Given the description of an element on the screen output the (x, y) to click on. 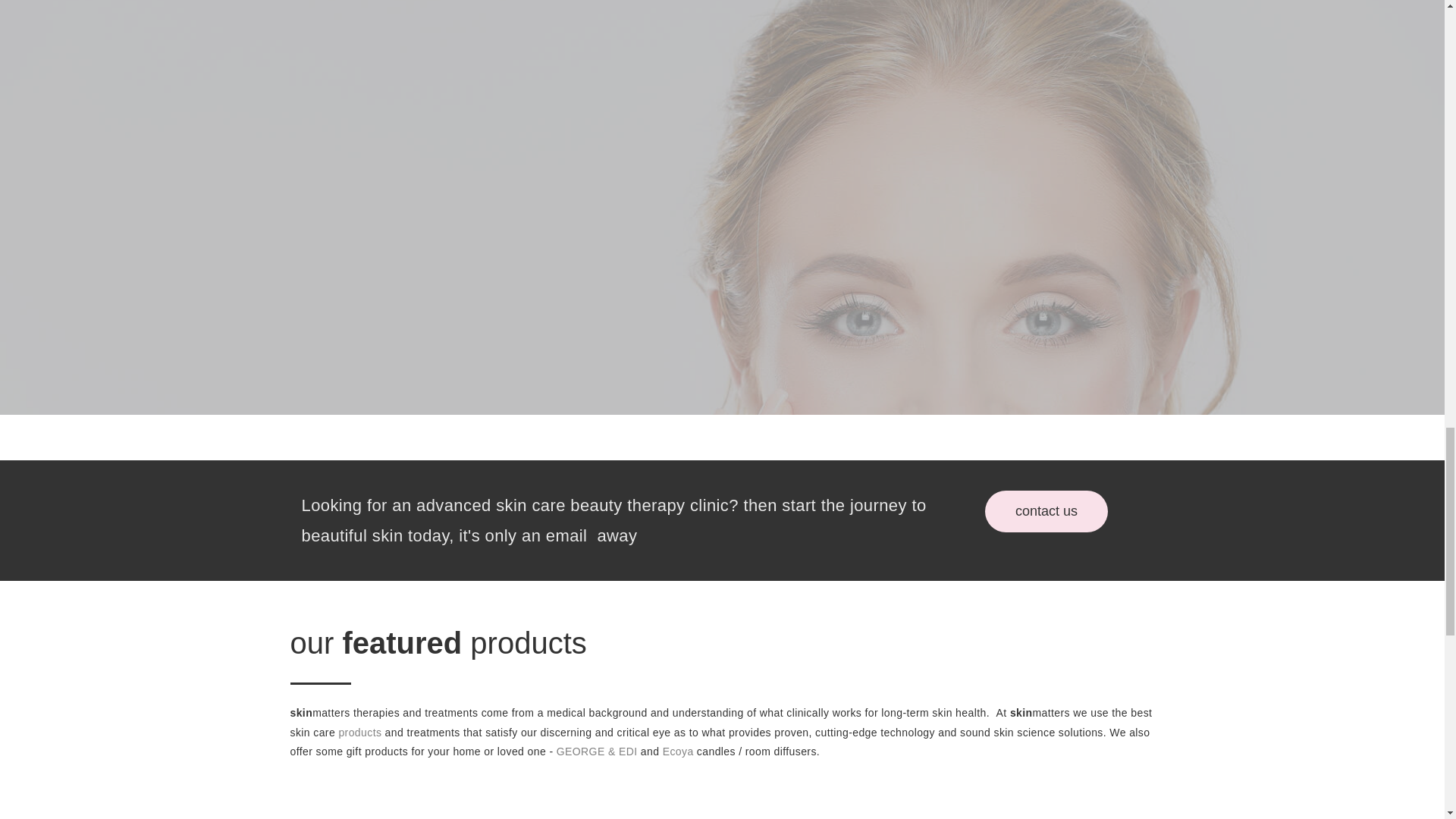
Ecoya (678, 751)
contact us (1046, 511)
products (359, 732)
